Given the description of an element on the screen output the (x, y) to click on. 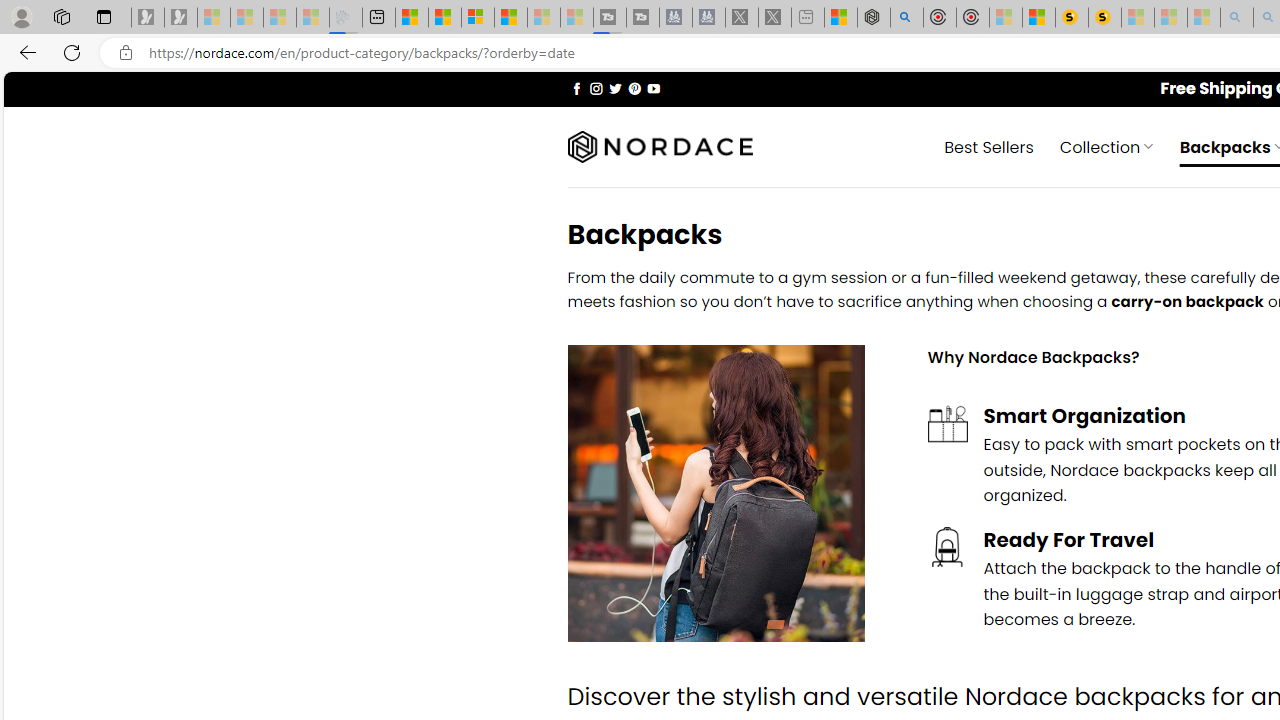
Follow on Facebook (576, 88)
Follow on Instagram (596, 88)
  Best Sellers (989, 146)
Streaming Coverage | T3 - Sleeping (609, 17)
